Given the description of an element on the screen output the (x, y) to click on. 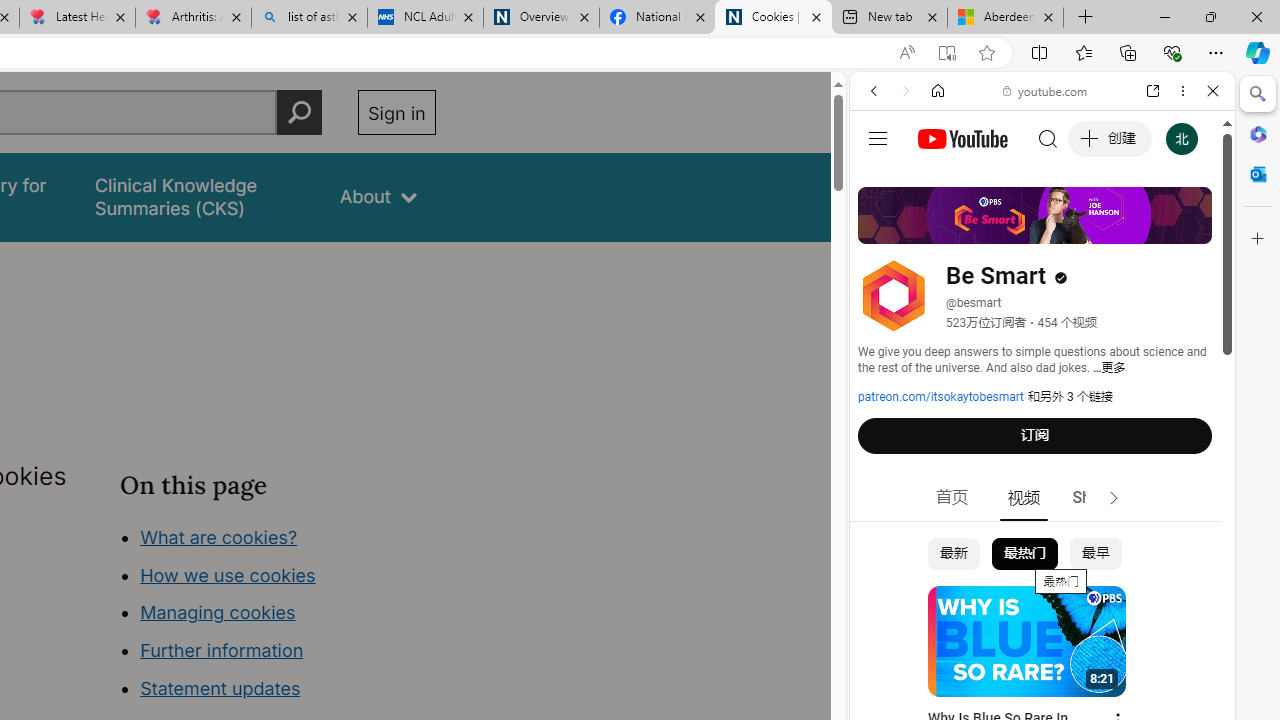
Cookies | About | NICE (772, 17)
Aberdeen, Hong Kong SAR hourly forecast | Microsoft Weather (1005, 17)
YouTube (1034, 296)
Search videos from youtube.com (1005, 657)
